Given the description of an element on the screen output the (x, y) to click on. 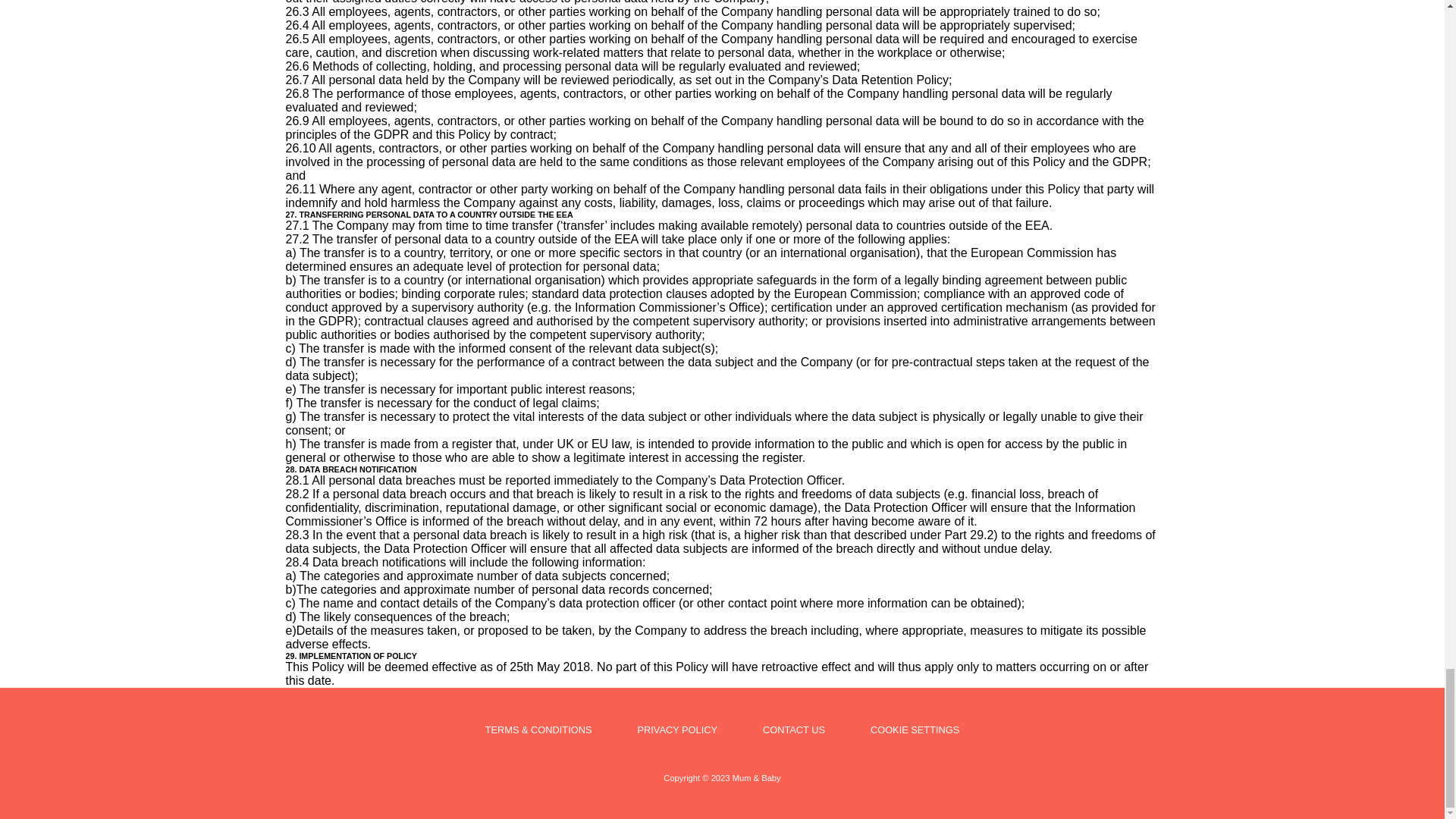
CONTACT US (793, 729)
PRIVACY POLICY (677, 729)
COOKIE SETTINGS (914, 729)
